Given the description of an element on the screen output the (x, y) to click on. 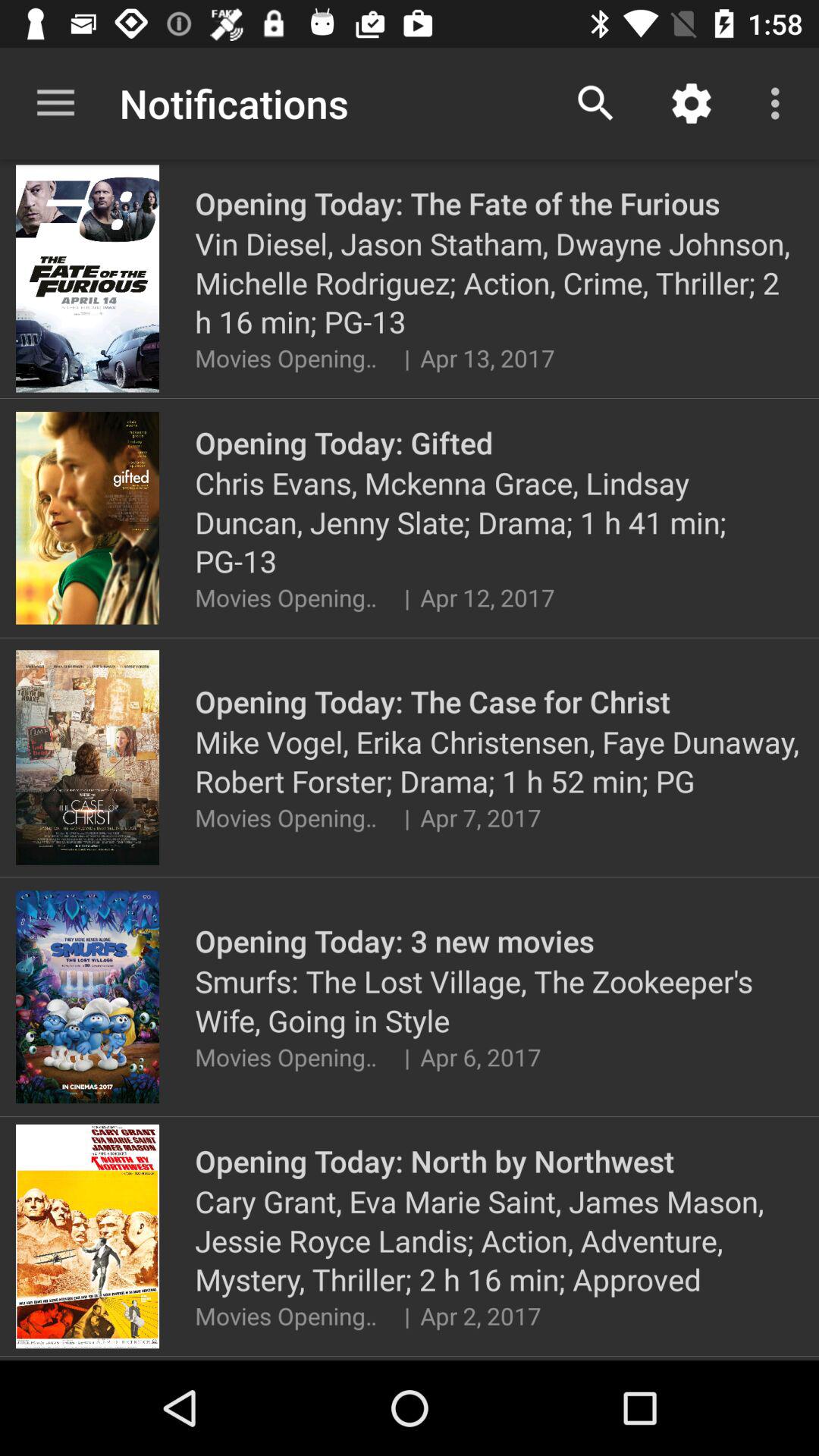
click item to the right of movies opening today icon (407, 1056)
